Given the description of an element on the screen output the (x, y) to click on. 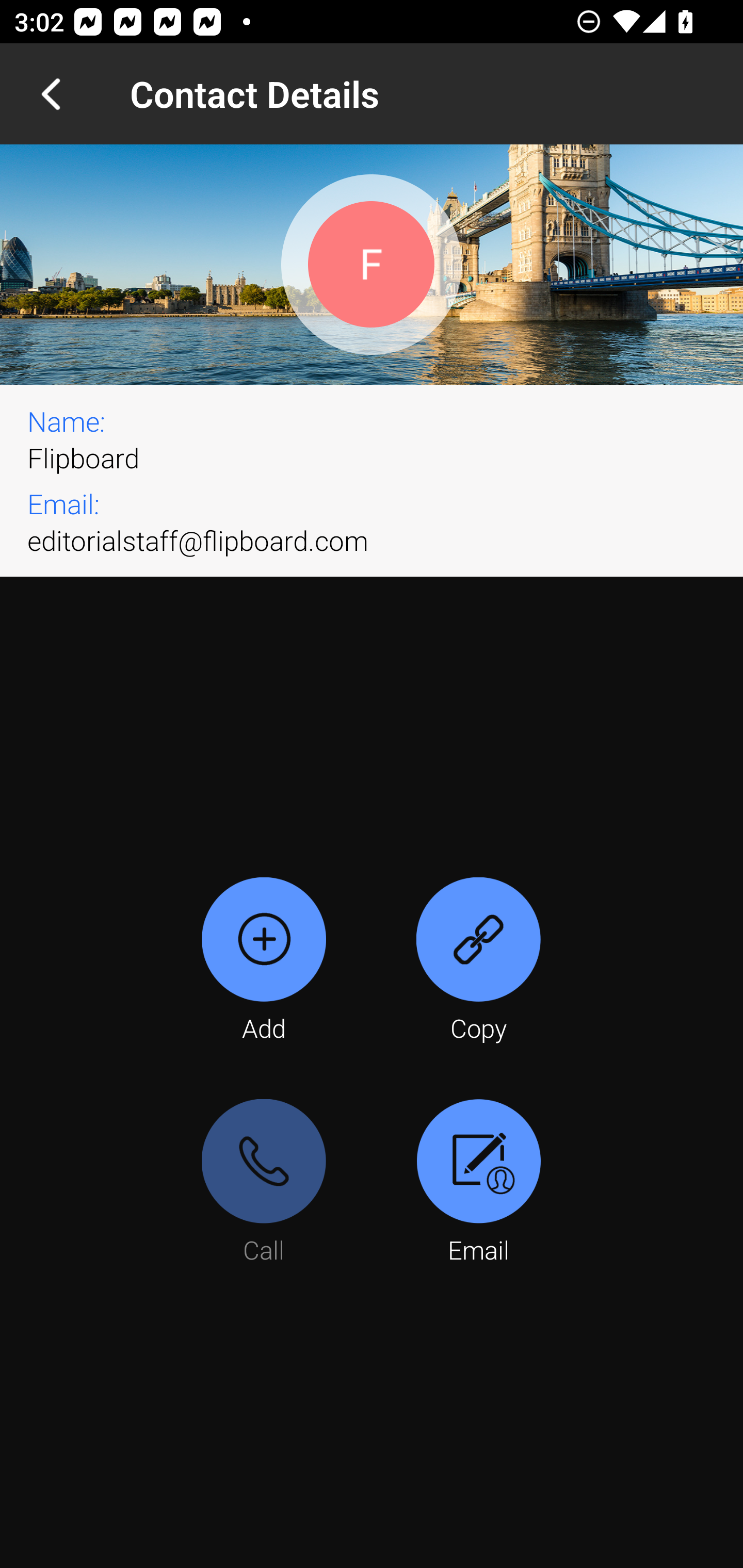
Navigate up (50, 93)
Add (264, 961)
Copy (478, 961)
Call (264, 1182)
Email (478, 1182)
